Given the description of an element on the screen output the (x, y) to click on. 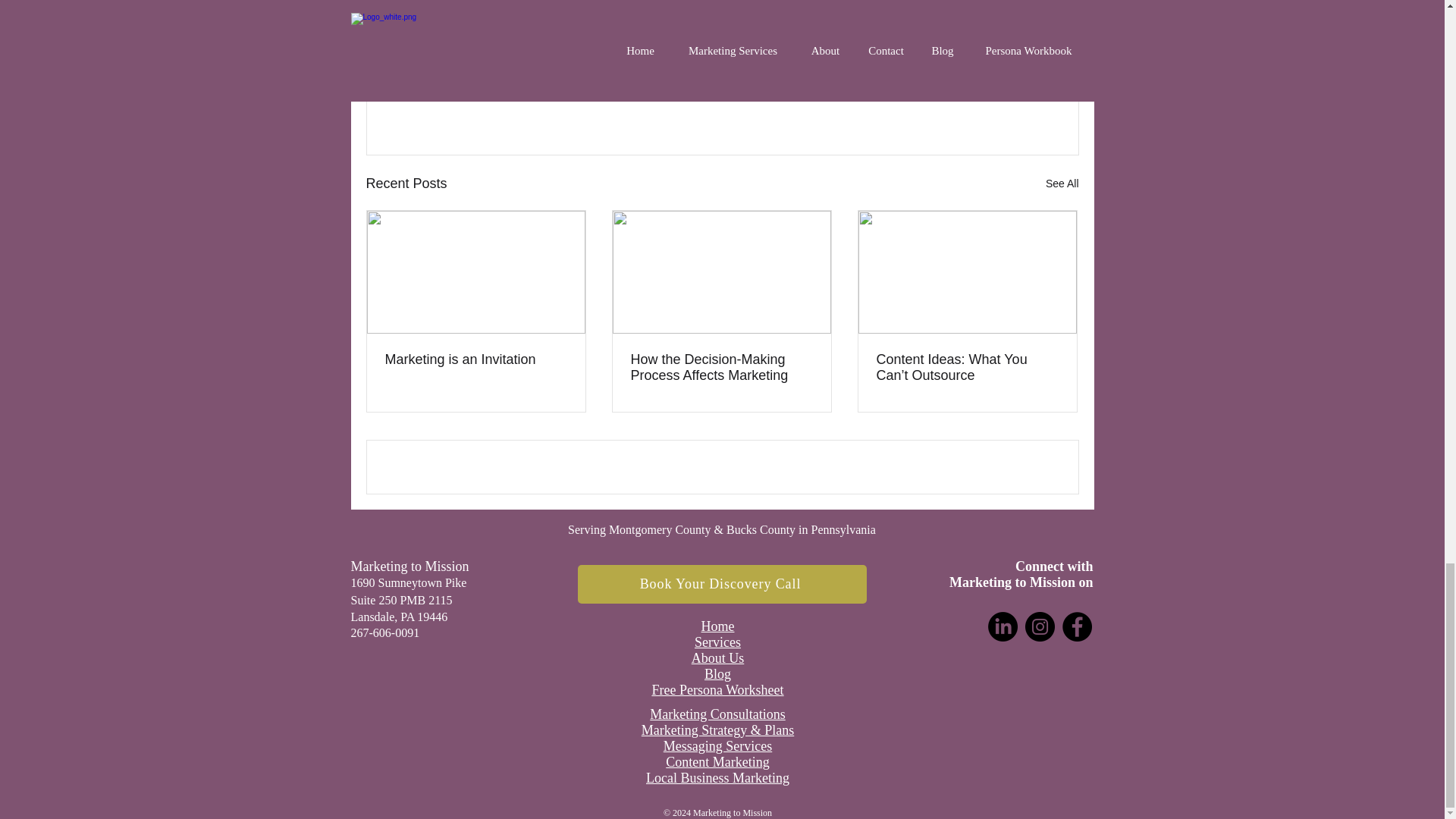
Content Marketing (716, 761)
About Us (717, 657)
See All (1061, 183)
Services (717, 642)
Marketing is an Invitation (476, 359)
How the Decision-Making Process Affects Marketing (721, 368)
Blog (717, 673)
Marketing Consultations (717, 713)
Home (716, 625)
Local Business Marketing (717, 776)
Free Persona Worksheet (716, 688)
Messaging Services (717, 744)
Book Your Discovery Call (722, 584)
